Given the description of an element on the screen output the (x, y) to click on. 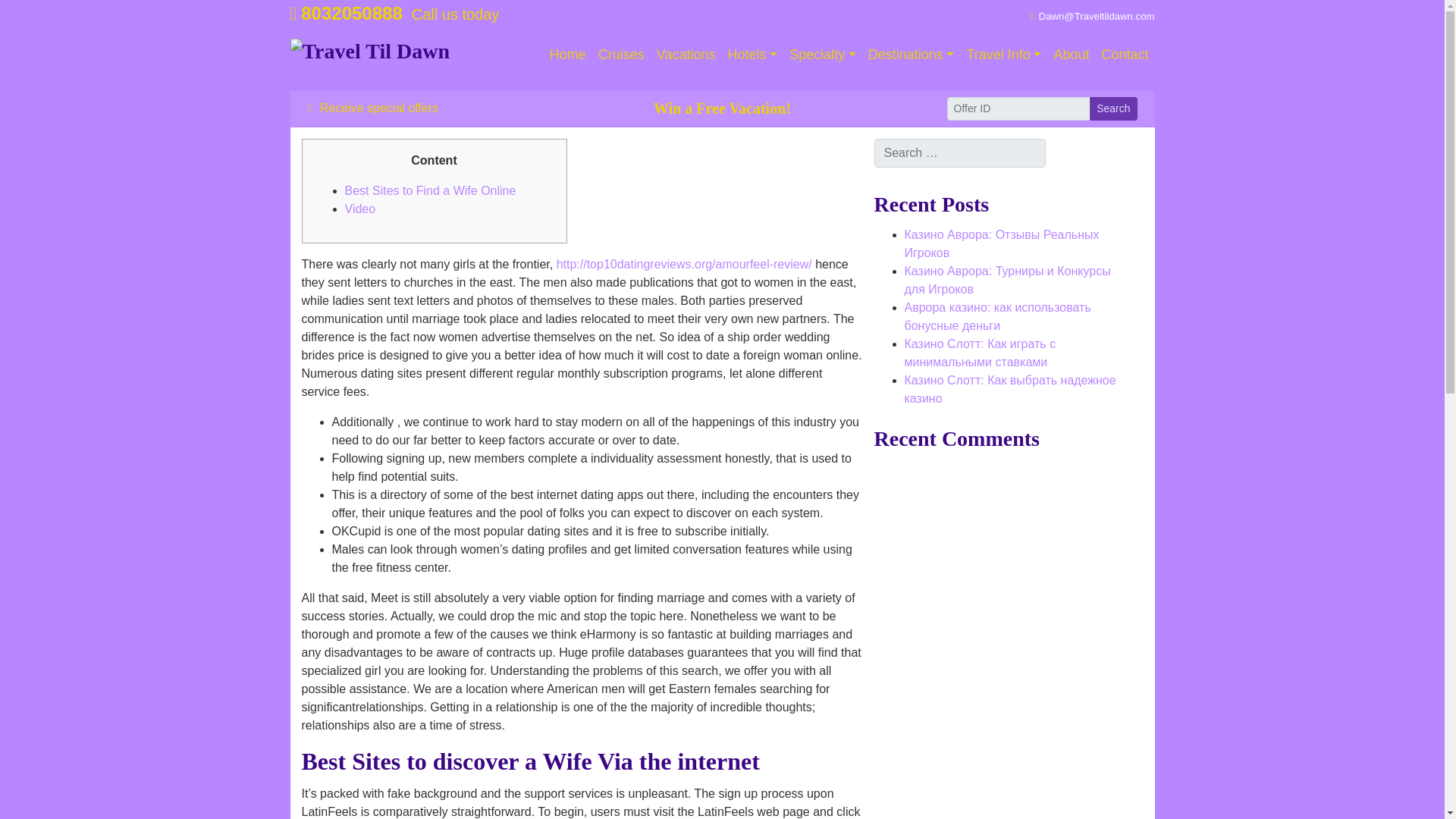
Cruises (621, 54)
Search for: (959, 152)
Contact (1124, 54)
Destinations (910, 54)
Home (567, 54)
8032050888 (345, 13)
Vacations (686, 54)
Call us (345, 13)
Travel Info (1002, 54)
About (1070, 54)
Phone icon (293, 13)
Specialty (822, 54)
Hotels (753, 54)
